Given the description of an element on the screen output the (x, y) to click on. 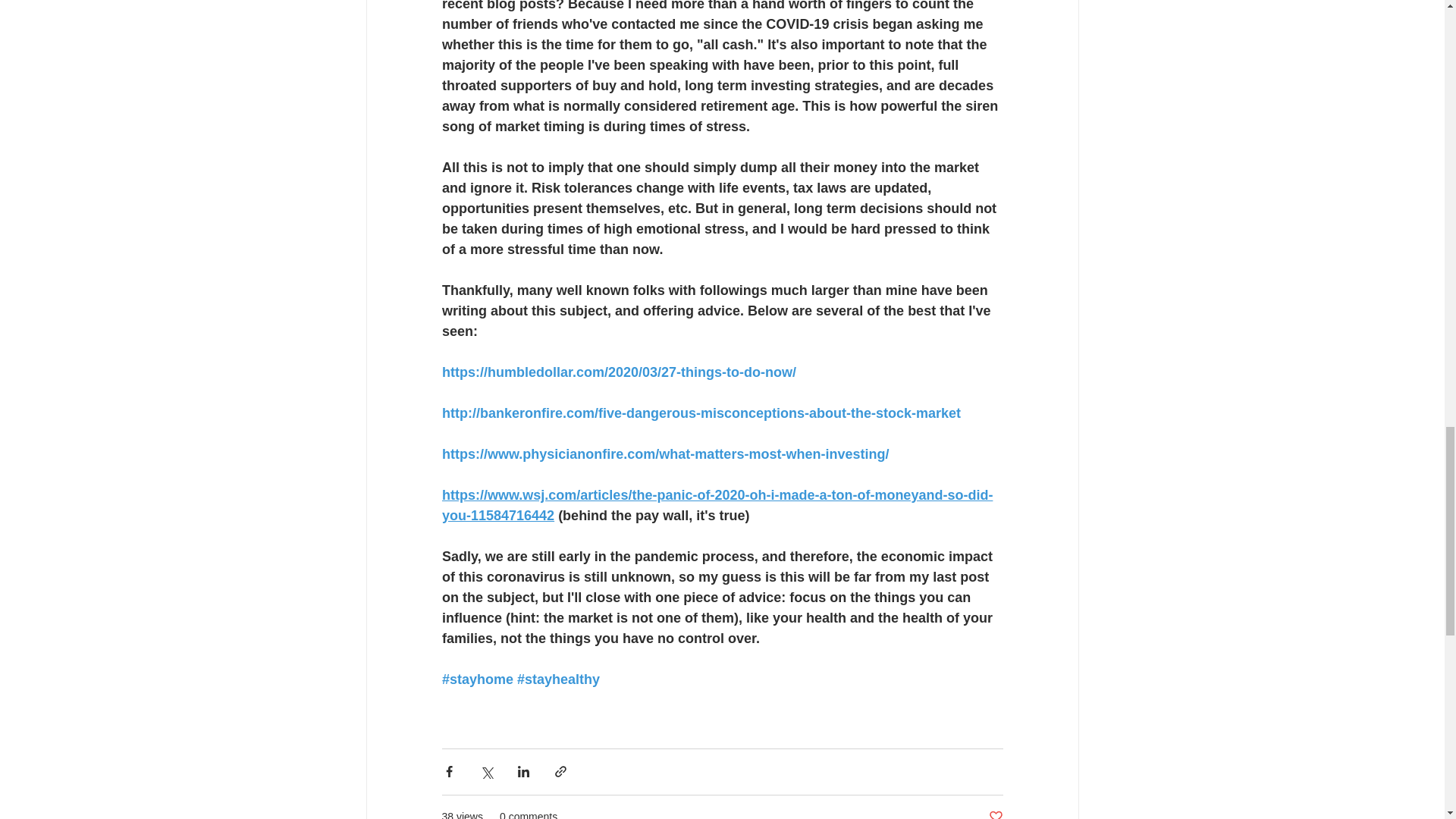
Post not marked as liked (995, 814)
